Given the description of an element on the screen output the (x, y) to click on. 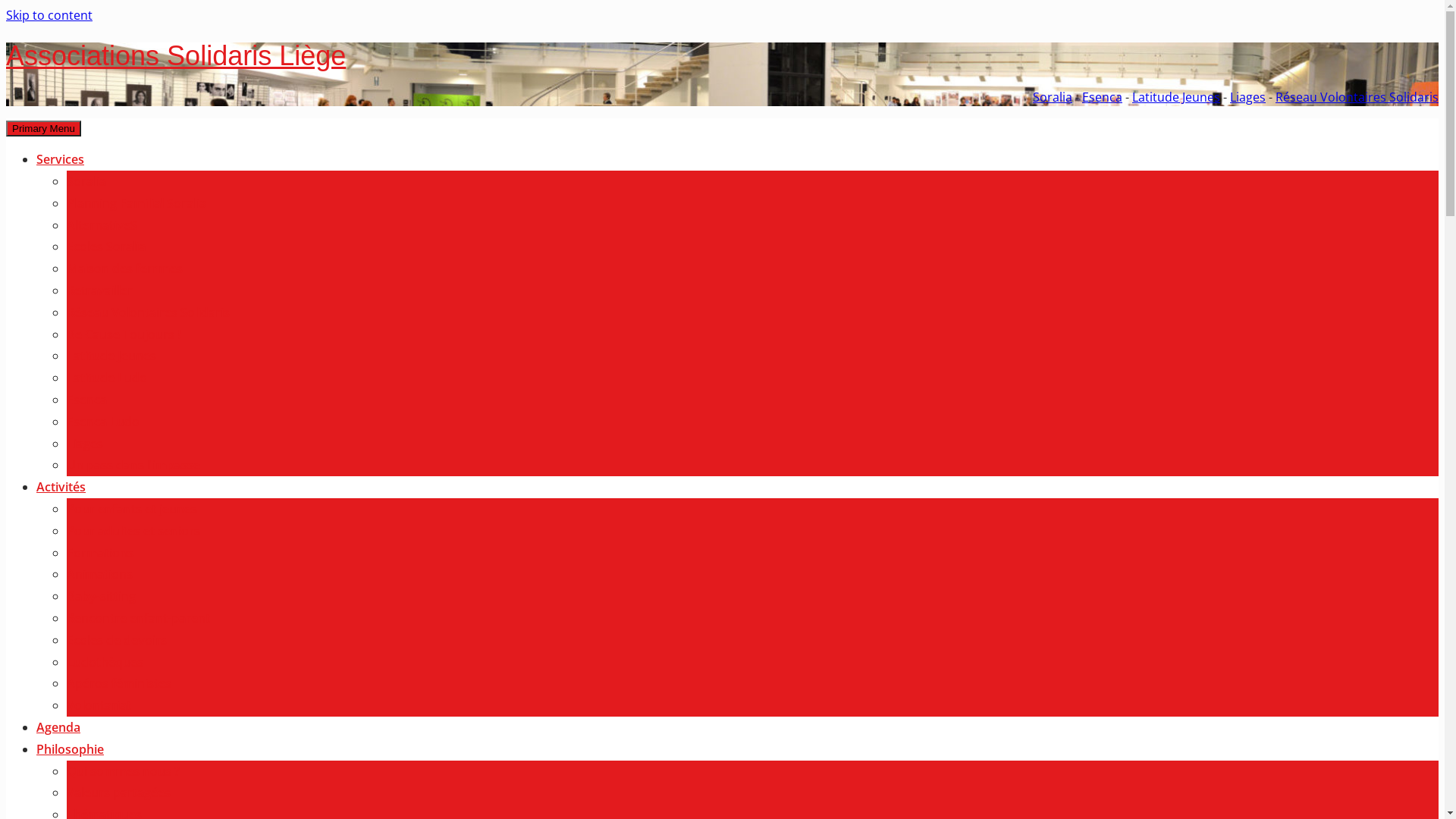
Liages Element type: text (1247, 96)
Baby-sitting Element type: text (100, 595)
AlternativeS Element type: text (101, 224)
Volontariat Element type: text (98, 704)
Philosophie Element type: text (69, 748)
Esenca Element type: text (1102, 96)
Soralia Element type: text (86, 180)
Soralia Element type: text (1052, 96)
Primary Menu Element type: text (43, 128)
Agenda Element type: text (58, 726)
Liages Element type: text (84, 443)
Formations Element type: text (99, 552)
Planning Familial Soralia Element type: text (136, 202)
Pour enfants et jeunes Element type: text (131, 508)
Latitude Jeunes Element type: text (111, 355)
Esenca Ludo Element type: text (102, 421)
Latitude Ludo Element type: text (106, 377)
Be Cause Toujours ! Element type: text (123, 334)
Ecoles Soralia Element type: text (105, 246)
Services Element type: text (60, 158)
Esenca Element type: text (86, 399)
Rencontre enfant-parent Element type: text (138, 617)
Retravailler Element type: text (99, 290)
Latitude Jeunes Element type: text (1176, 96)
Skip to content Element type: text (49, 14)
Maison des femmes Element type: text (124, 268)
Ecoles de devoirs Element type: text (116, 639)
Animations Element type: text (99, 573)
Qui sommes nous ? Element type: text (122, 770)
Pour adultes et seniors Element type: text (133, 530)
